Given the description of an element on the screen output the (x, y) to click on. 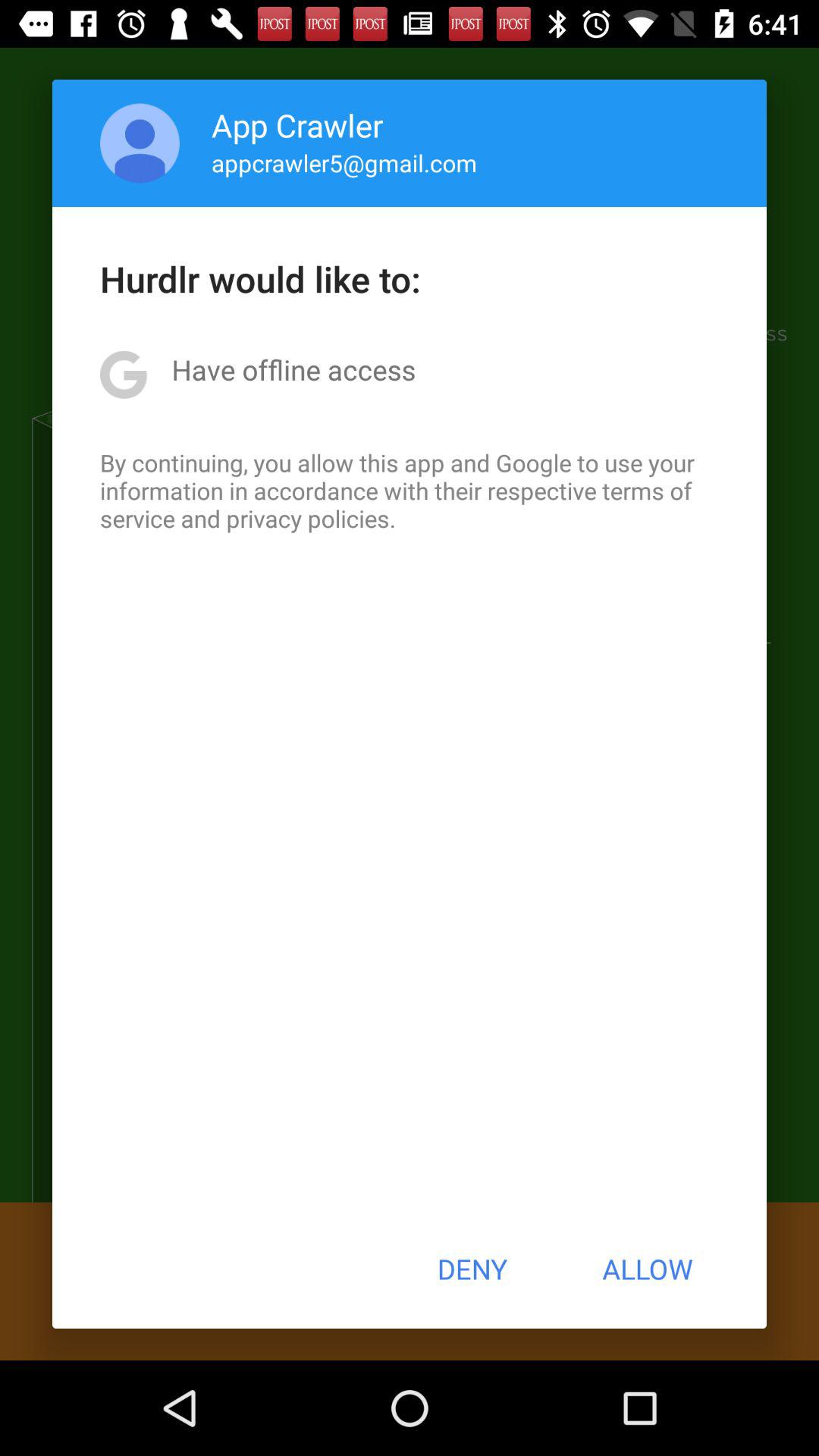
turn on item above the appcrawler5@gmail.com (297, 124)
